Given the description of an element on the screen output the (x, y) to click on. 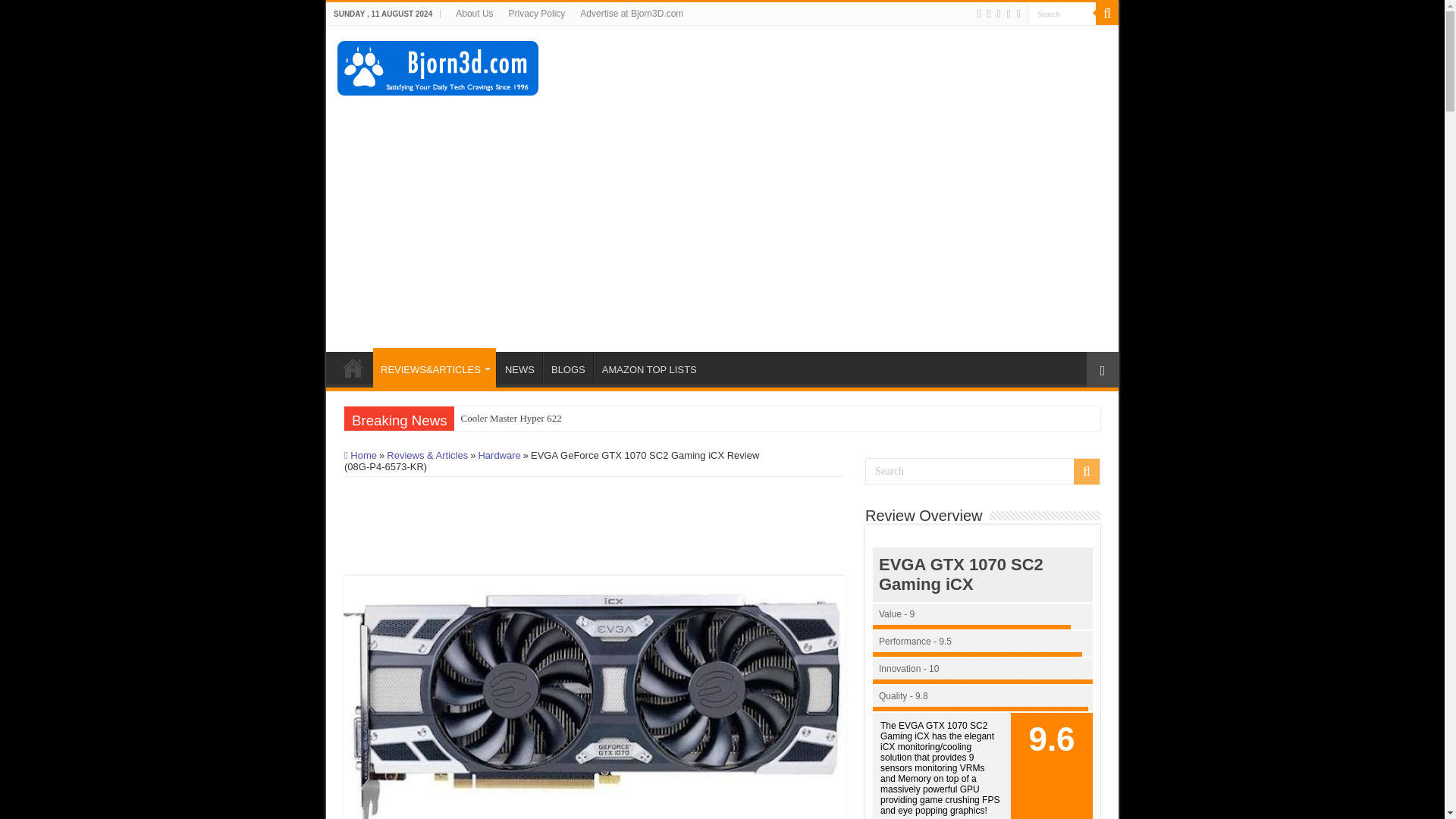
Search (1061, 13)
Search (1061, 13)
Search (1061, 13)
Cooler Master Hyper 622 Halo (510, 418)
Search (982, 470)
Bjorn3D.com (437, 64)
